Given the description of an element on the screen output the (x, y) to click on. 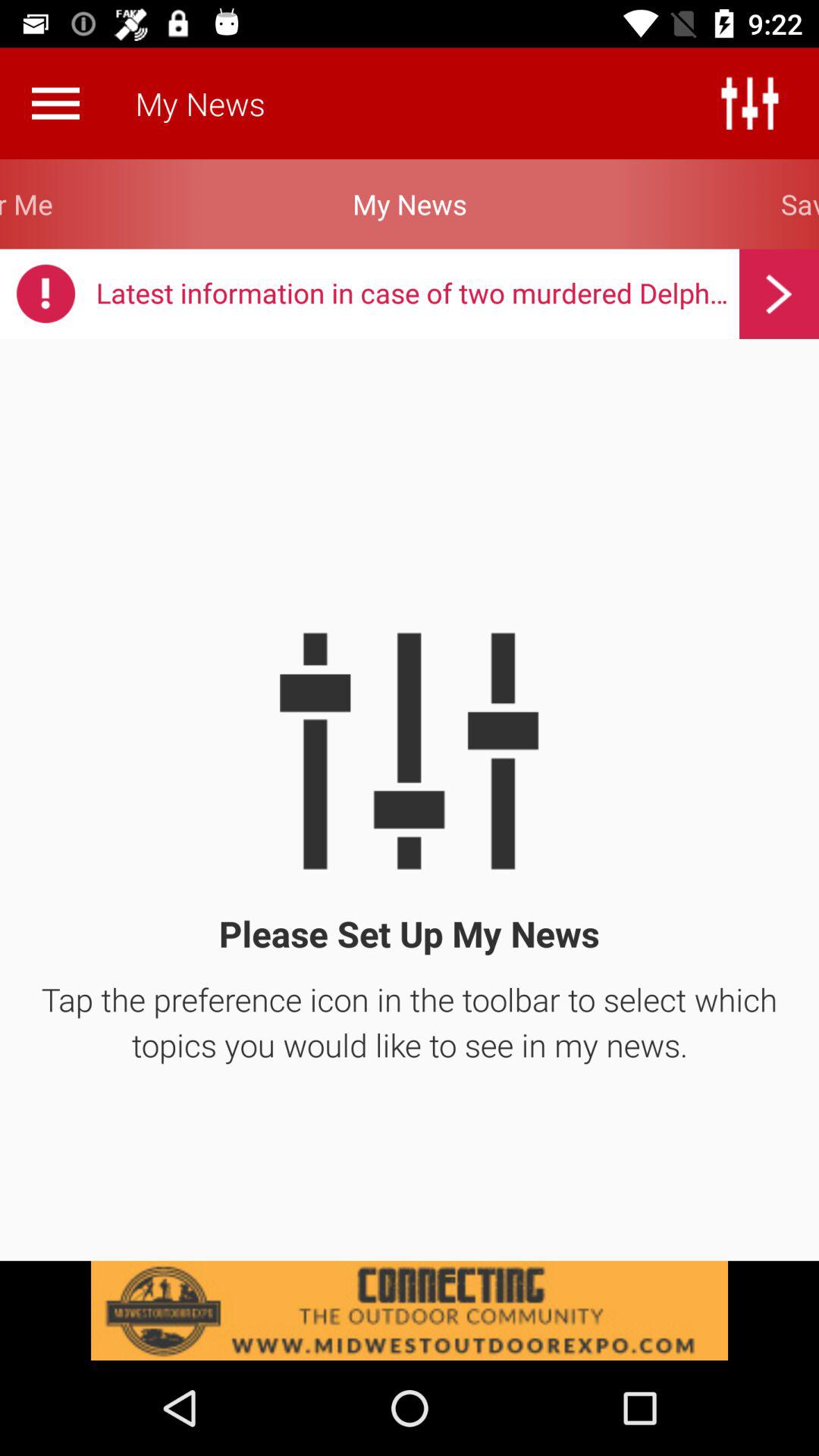
click the add (409, 1310)
